Given the description of an element on the screen output the (x, y) to click on. 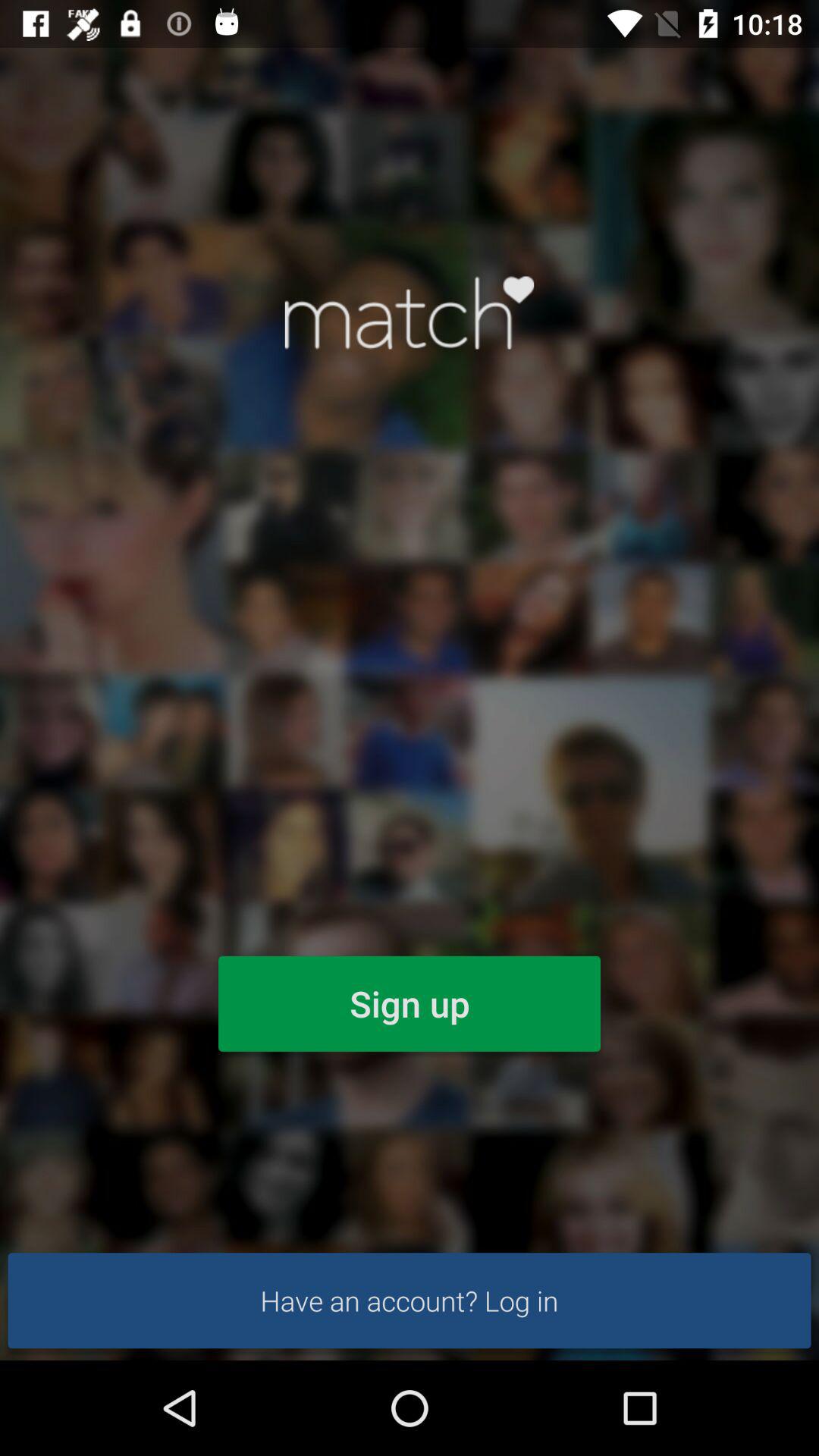
love matching (409, 312)
